Given the description of an element on the screen output the (x, y) to click on. 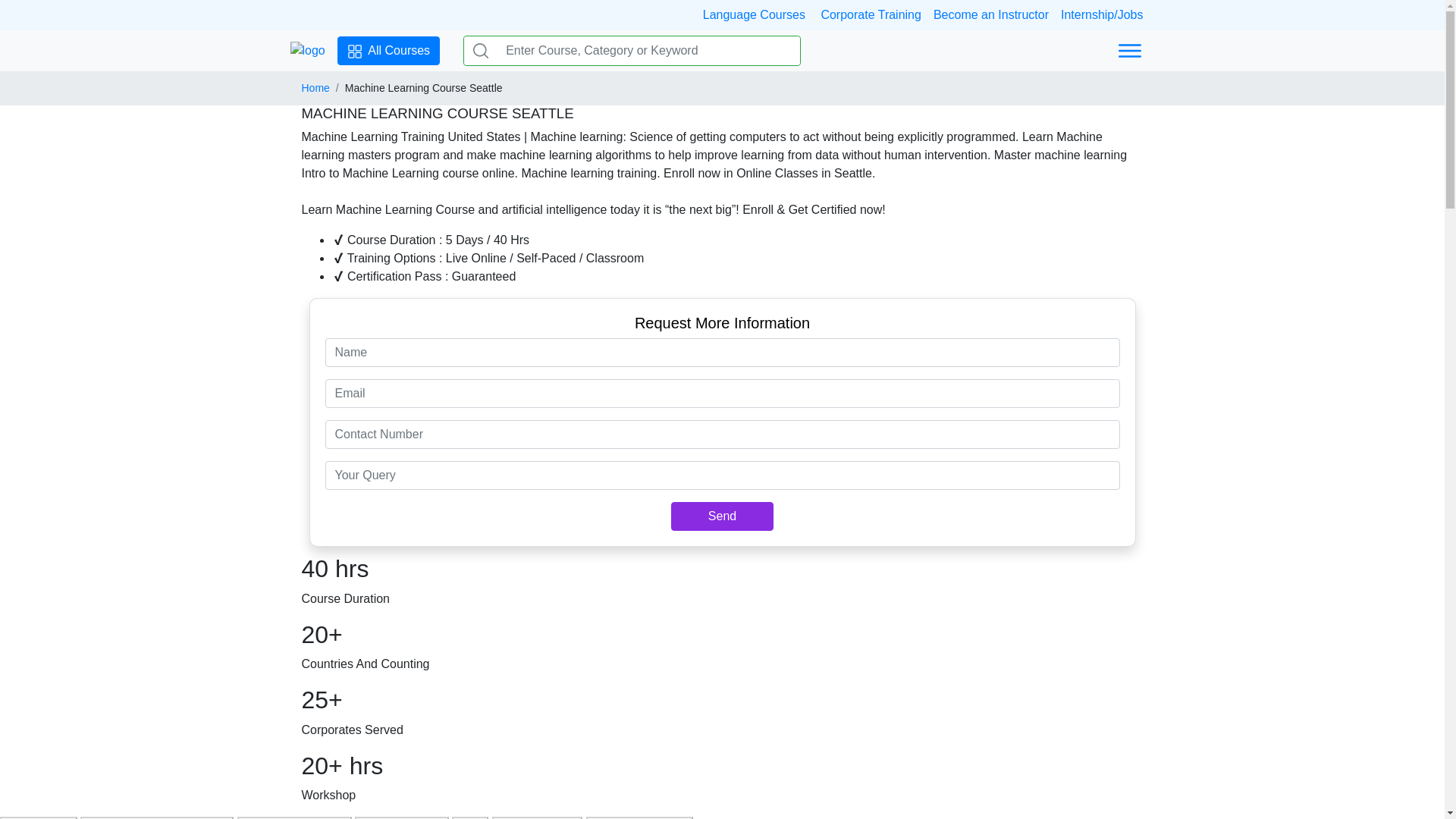
All Courses All Courses (388, 50)
Home (315, 87)
OVERVIEW (38, 817)
LEARNING OBJECTIVES (156, 817)
Corporate Training (870, 14)
FAQ (469, 817)
Language Courses (759, 14)
All Courses (354, 51)
Become an Instructor (990, 14)
Request Callback (639, 817)
CERTIFICATE (537, 817)
Menu (1128, 50)
PRE-REQUISITES (294, 817)
Menu (1129, 51)
CURRICULUM (401, 817)
